Given the description of an element on the screen output the (x, y) to click on. 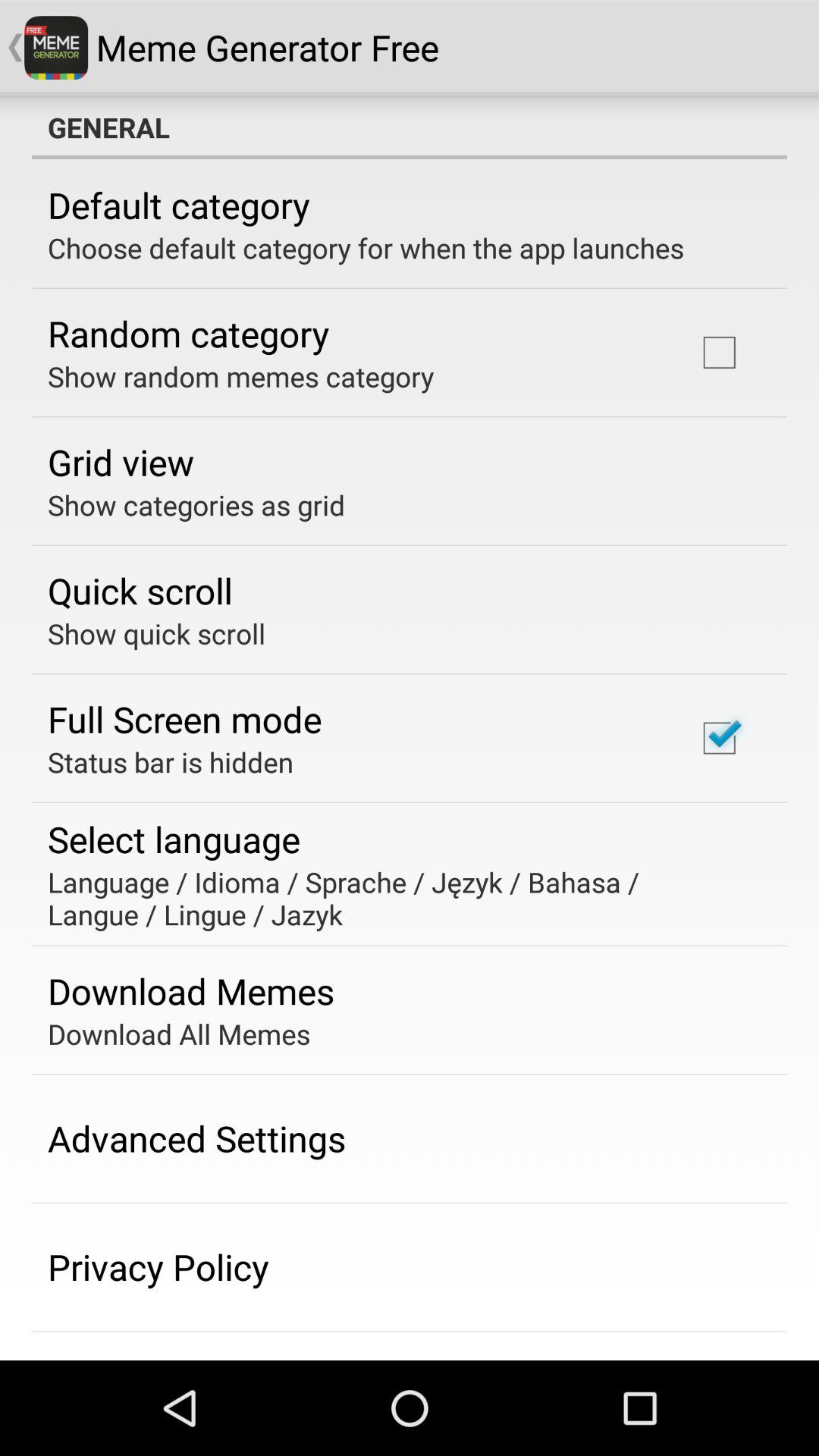
select the privacy policy (158, 1266)
